Given the description of an element on the screen output the (x, y) to click on. 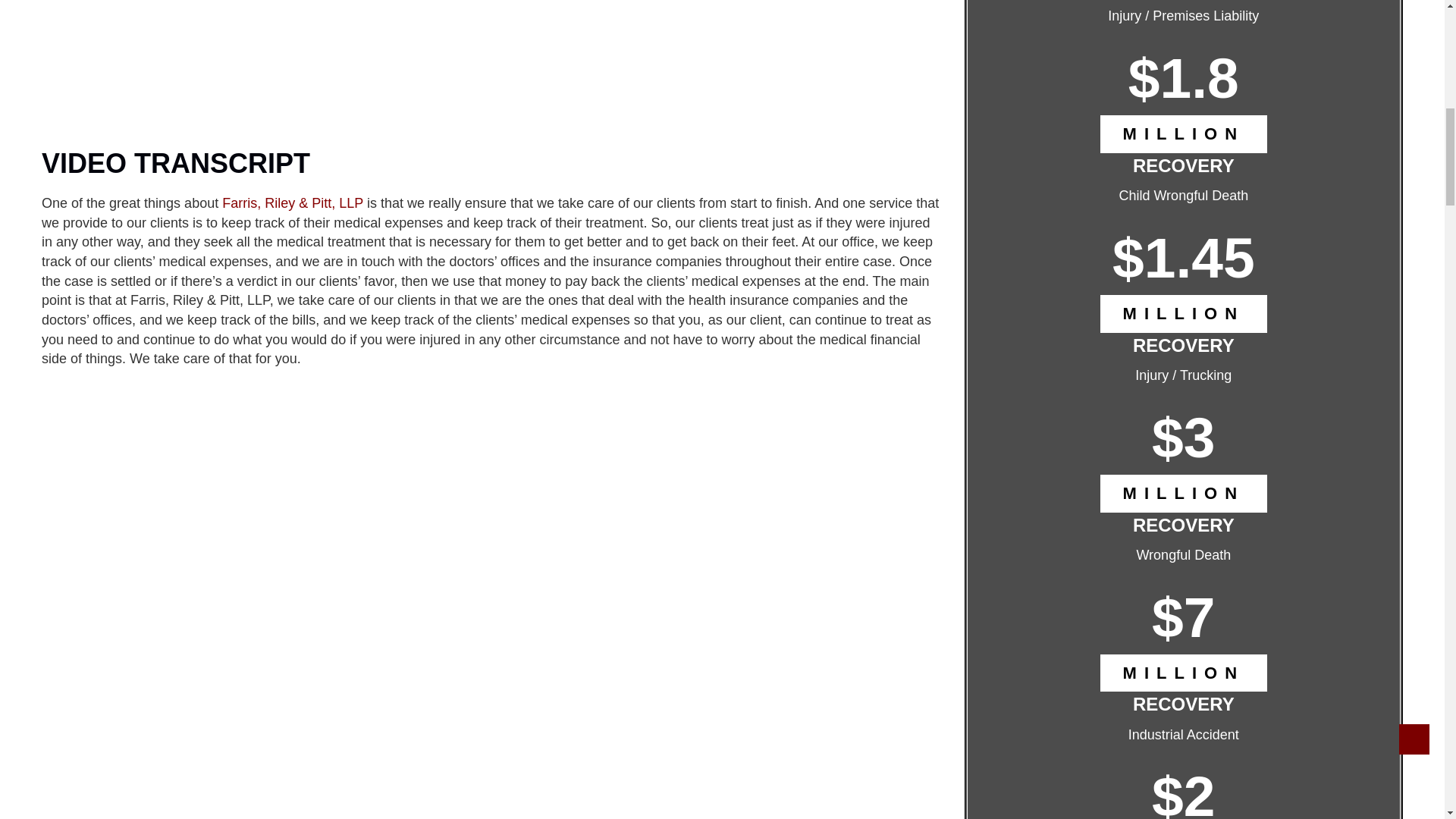
MILLION (1183, 493)
MILLION (1183, 133)
MILLION (1183, 672)
MILLION (1183, 313)
